Given the description of an element on the screen output the (x, y) to click on. 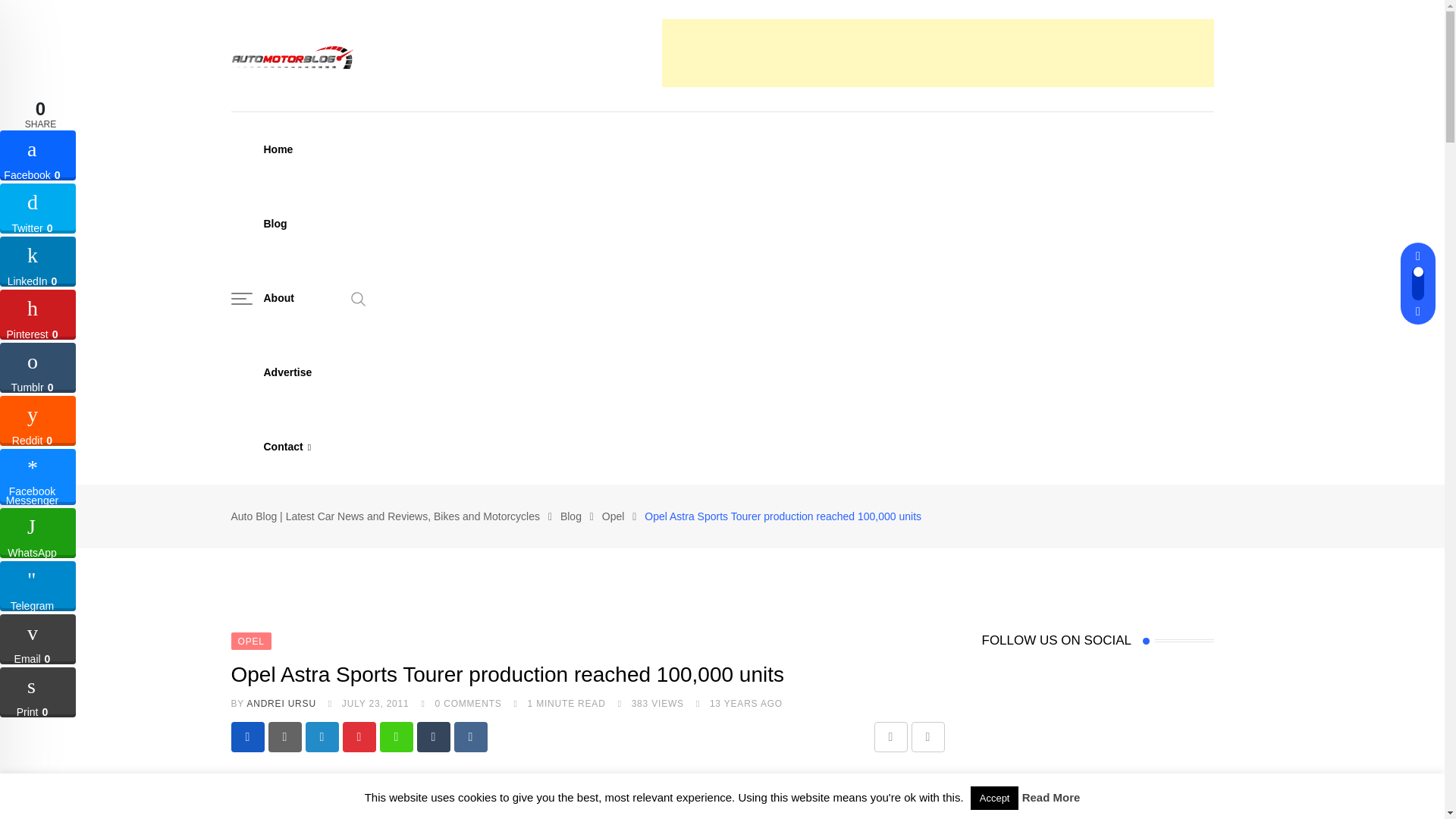
Advertise (287, 371)
Contact (286, 446)
Go to Blog. (570, 516)
Sign Up Now (1027, 551)
Go to the Opel Category archives. (613, 516)
Posts by Andrei Ursu (280, 703)
Advertisement (936, 52)
on (986, 512)
